Given the description of an element on the screen output the (x, y) to click on. 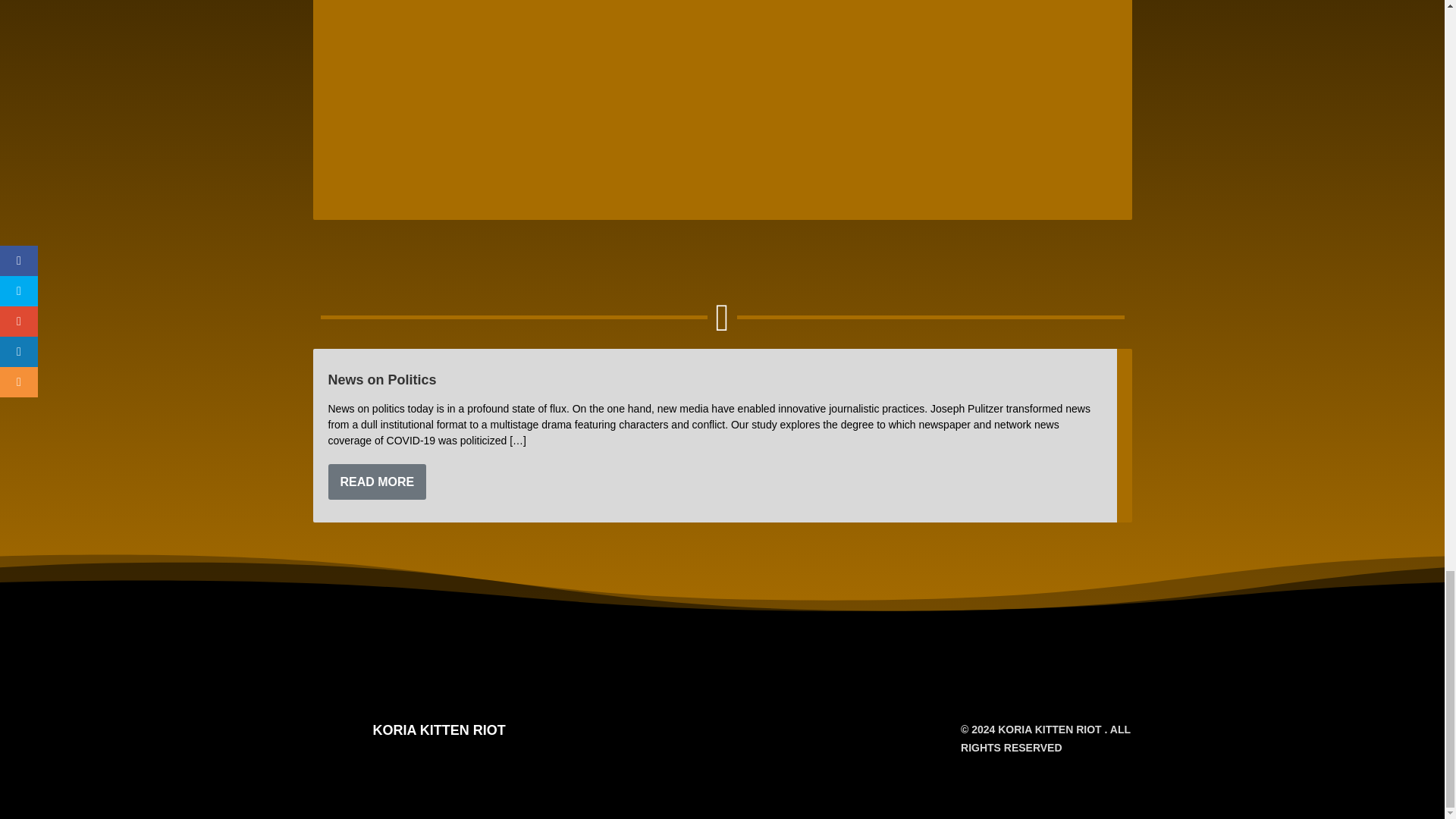
News on Politics (381, 379)
READ MORE (376, 481)
News on Politics (381, 379)
